Given the description of an element on the screen output the (x, y) to click on. 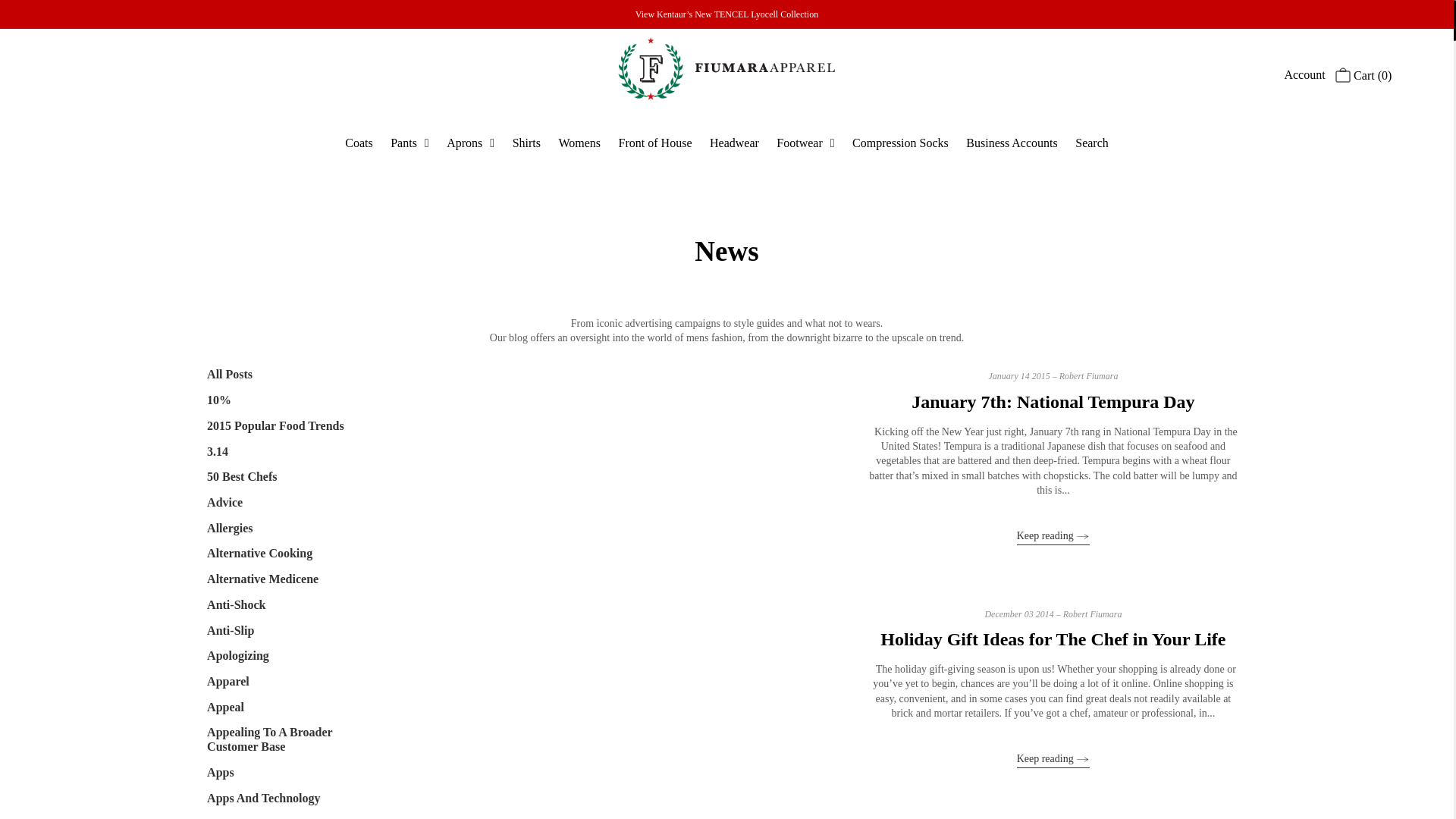
Account (1304, 74)
Coats (358, 143)
